Given the description of an element on the screen output the (x, y) to click on. 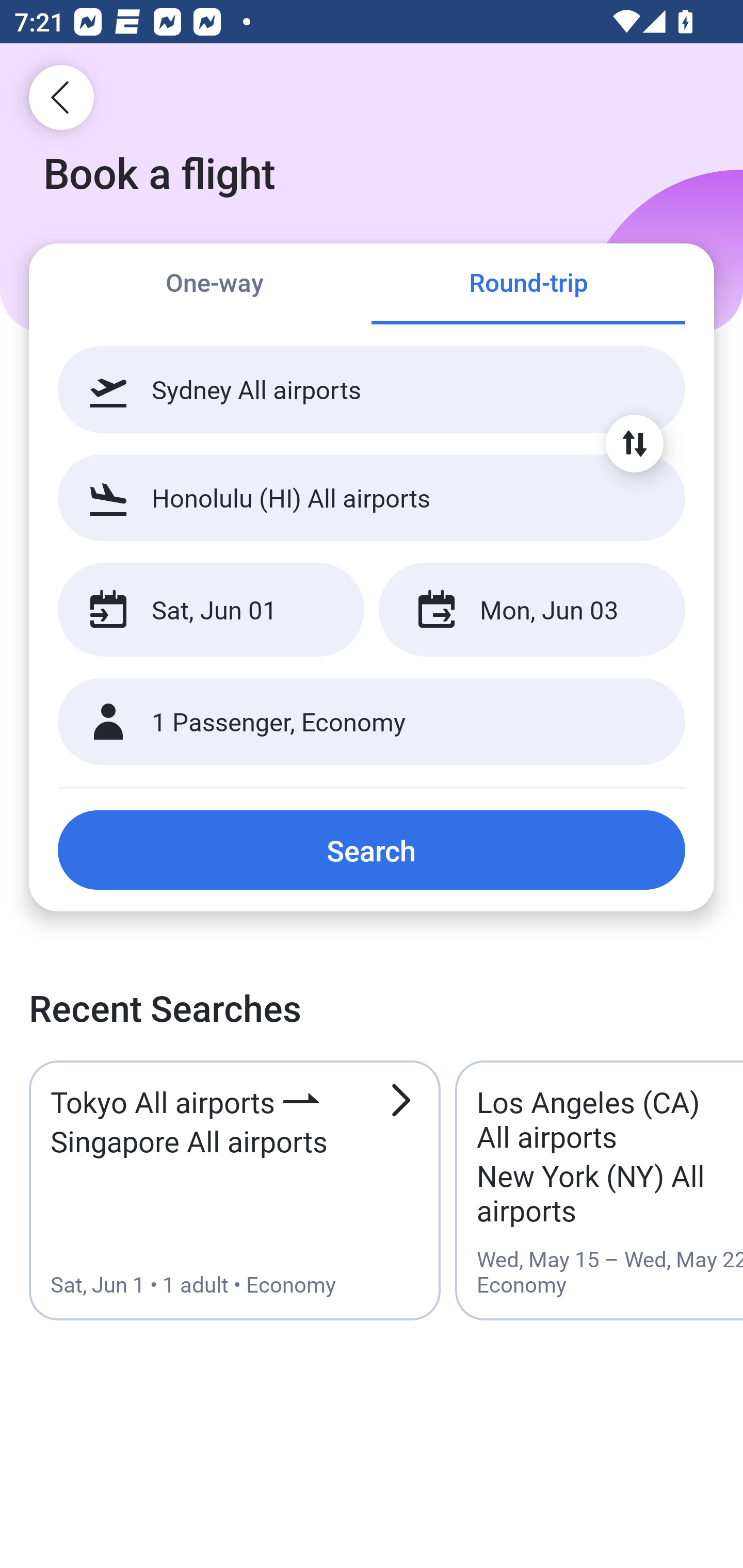
One-way (214, 284)
Sydney All airports (371, 389)
Honolulu (HI) All airports (371, 497)
Sat, Jun 01 (210, 609)
Mon, Jun 03 (531, 609)
1 Passenger, Economy (371, 721)
Search (371, 849)
